Given the description of an element on the screen output the (x, y) to click on. 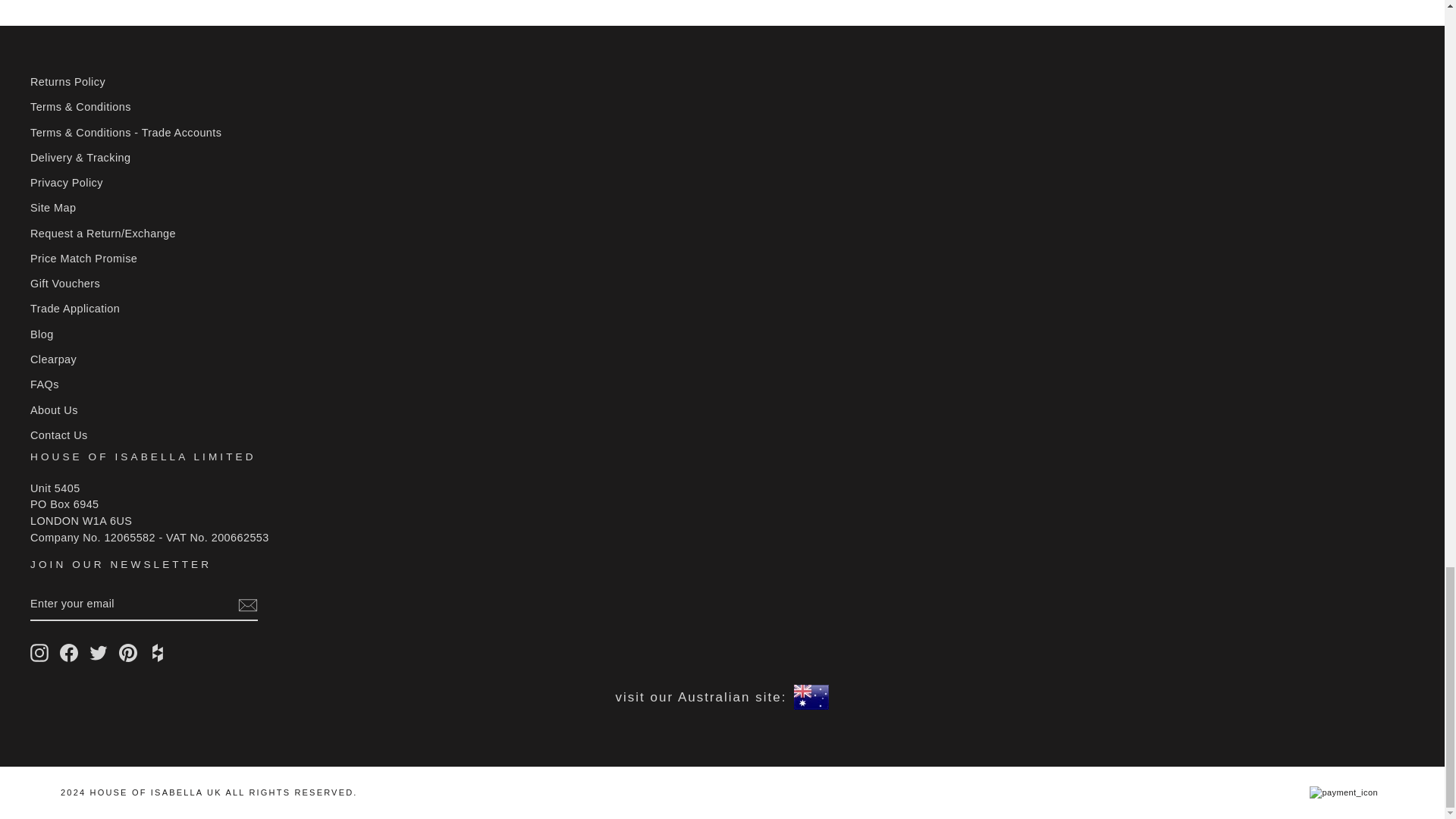
House of Isabella UK on Instagram (39, 652)
House of Isabella UK on Twitter (97, 652)
House of Isabella UK on Pinterest (127, 652)
House of Isabella UK on Facebook (68, 652)
